Given the description of an element on the screen output the (x, y) to click on. 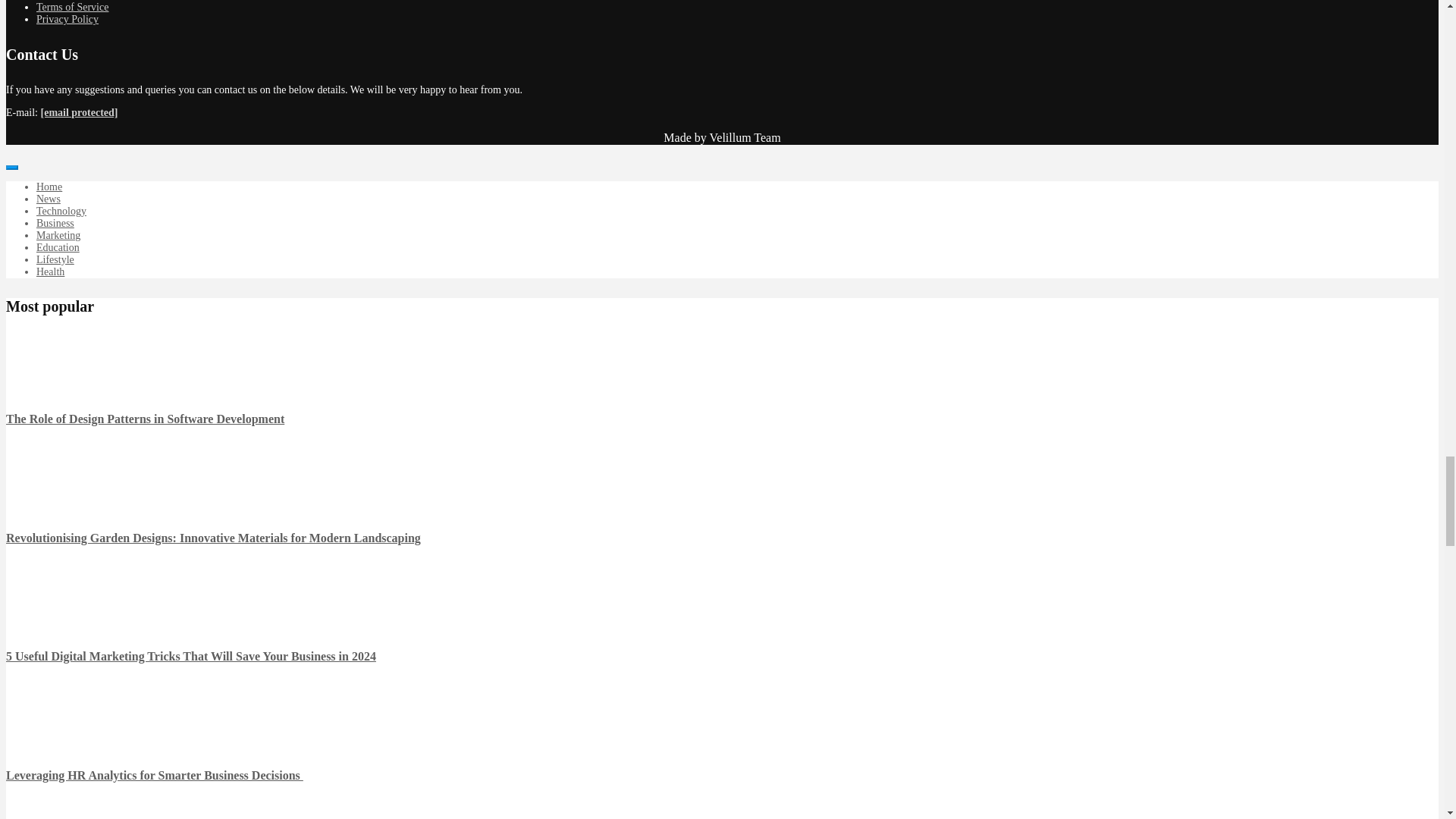
The Role of Design Patterns in Software Development (35, 378)
